Given the description of an element on the screen output the (x, y) to click on. 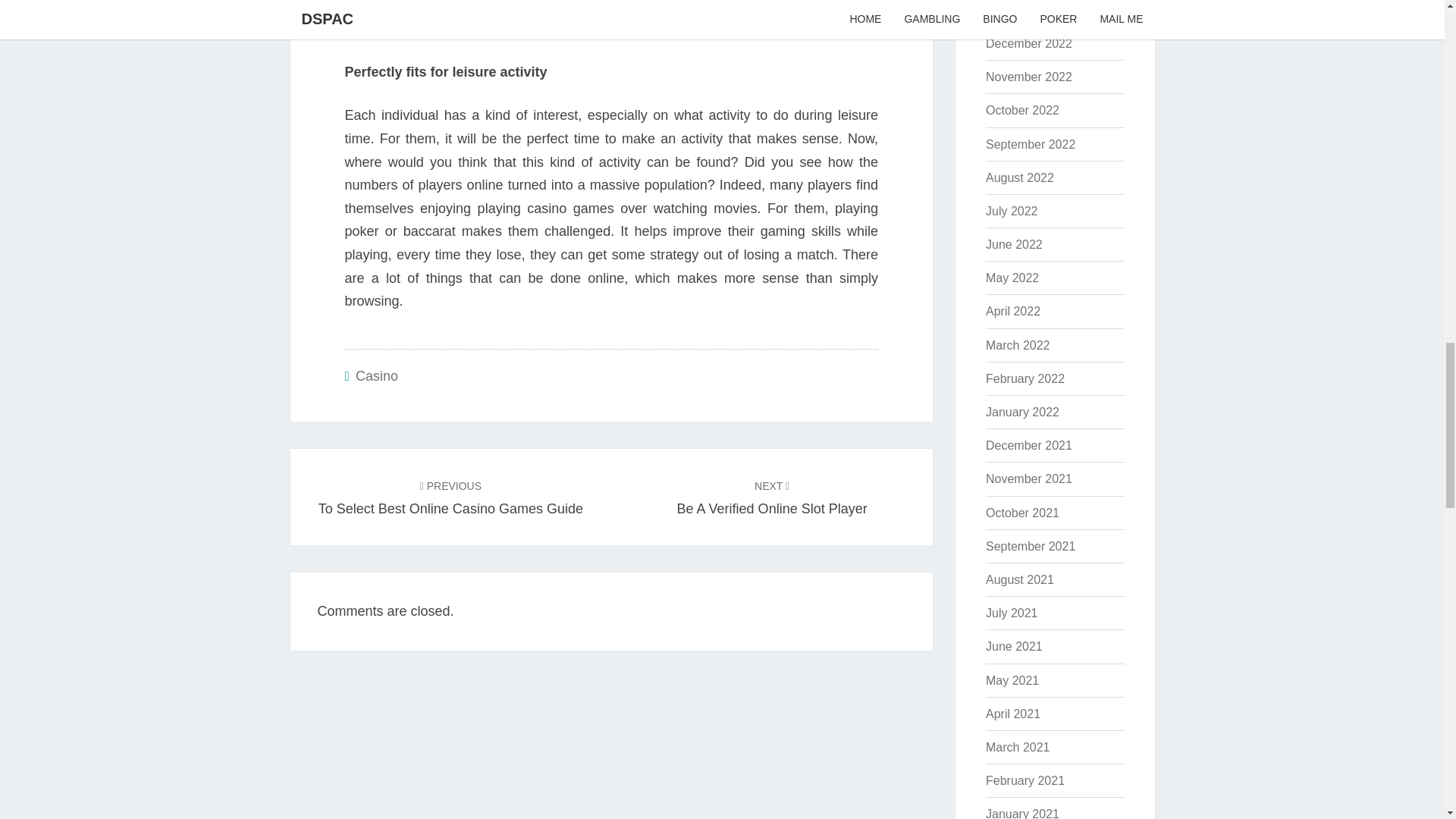
September 2022 (1030, 144)
October 2022 (1022, 110)
January 2023 (1022, 10)
November 2022 (1028, 76)
December 2022 (1028, 42)
Casino (376, 376)
